Given the description of an element on the screen output the (x, y) to click on. 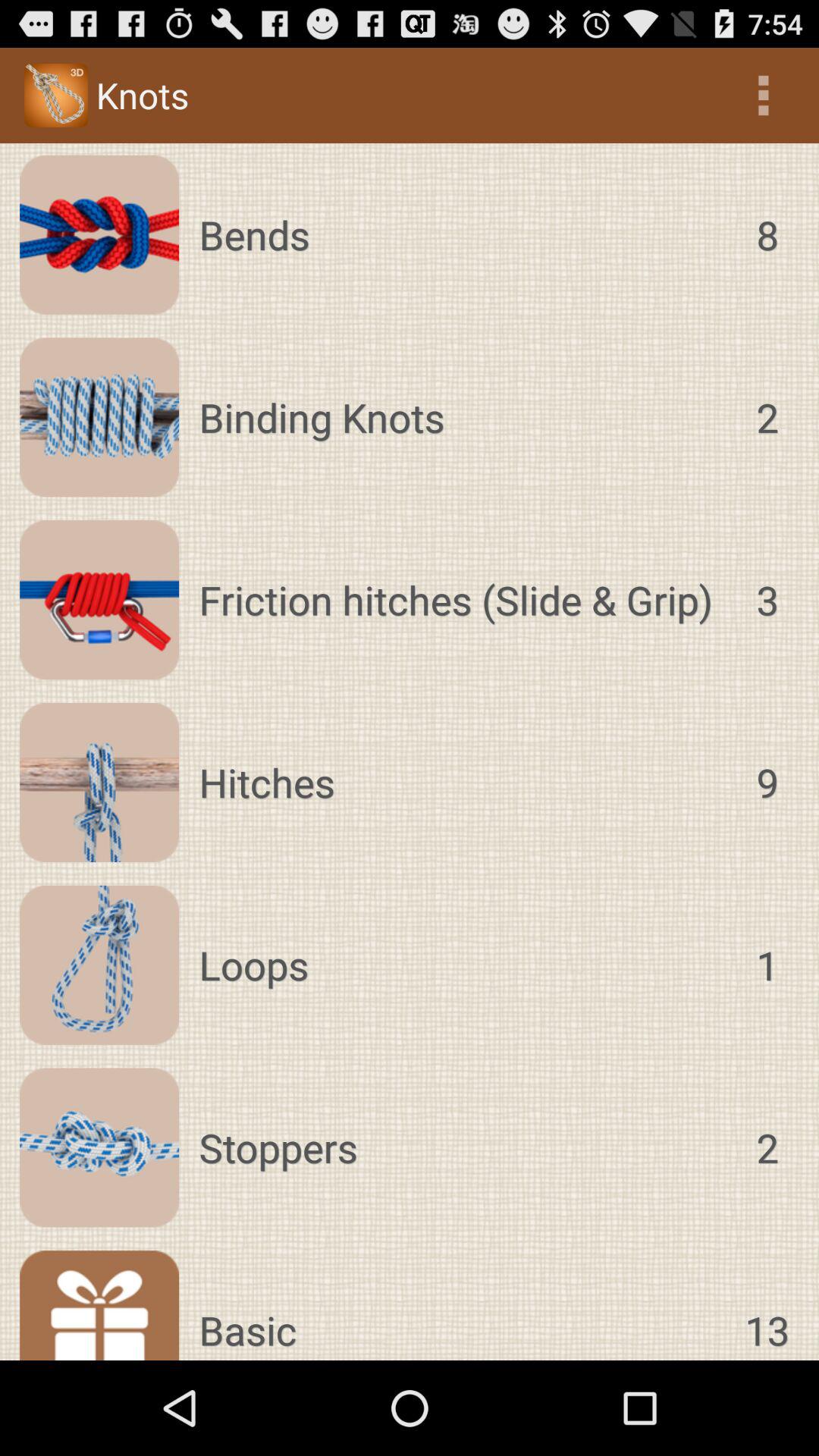
jump to 1 icon (767, 964)
